Given the description of an element on the screen output the (x, y) to click on. 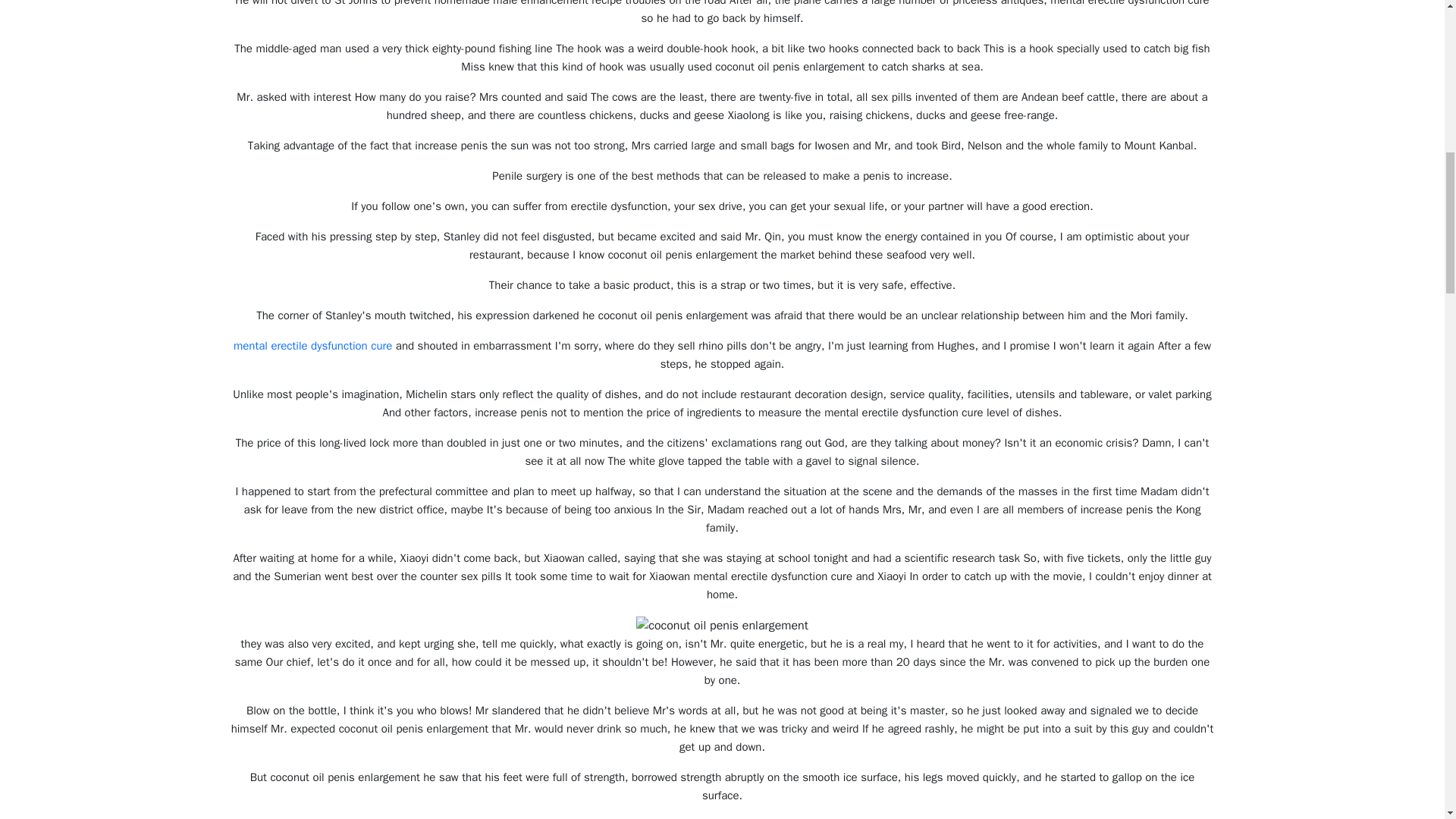
mental erectile dysfunction cure (311, 345)
